Given the description of an element on the screen output the (x, y) to click on. 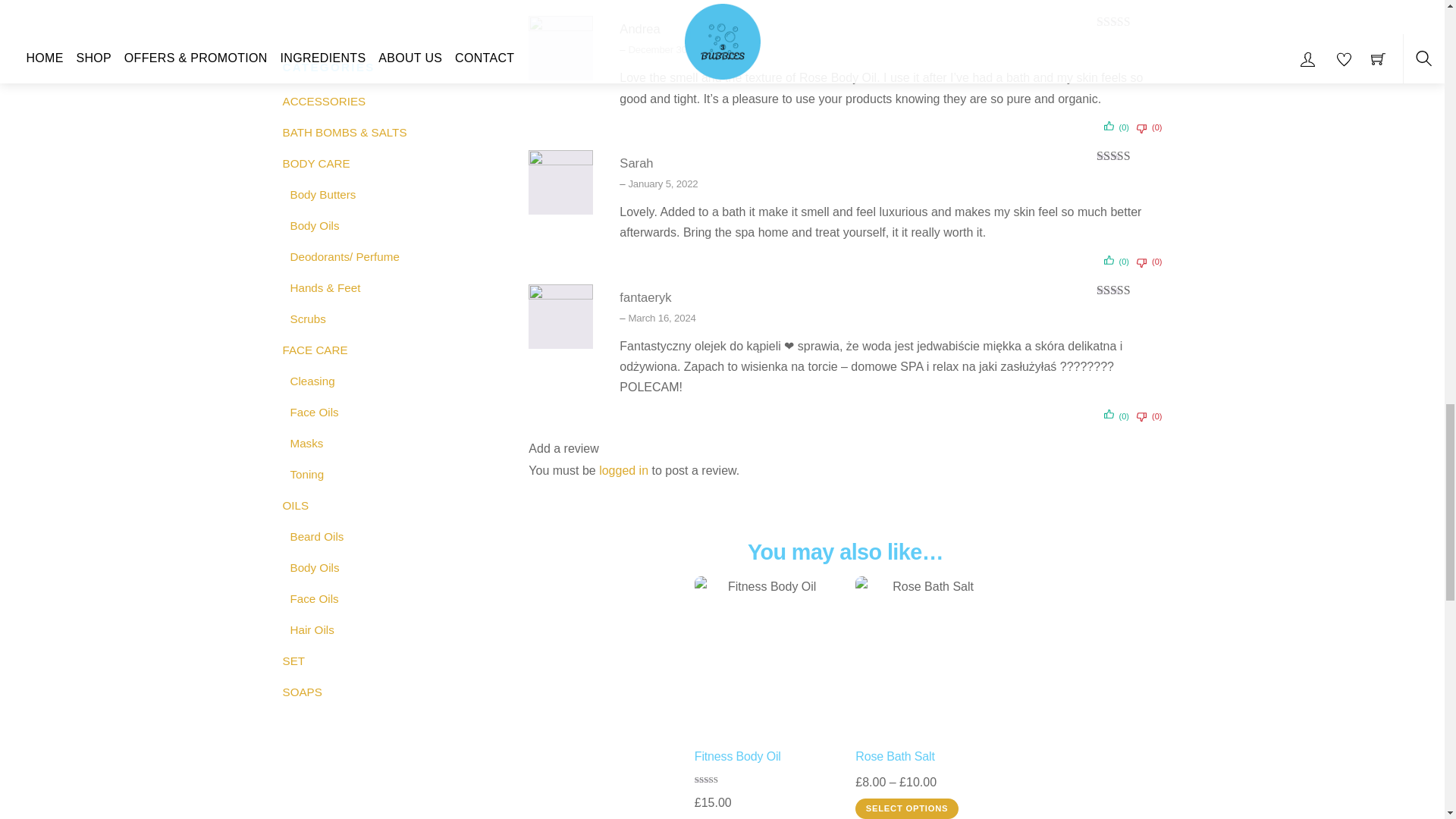
600 (927, 654)
fitness oil (766, 654)
